Given the description of an element on the screen output the (x, y) to click on. 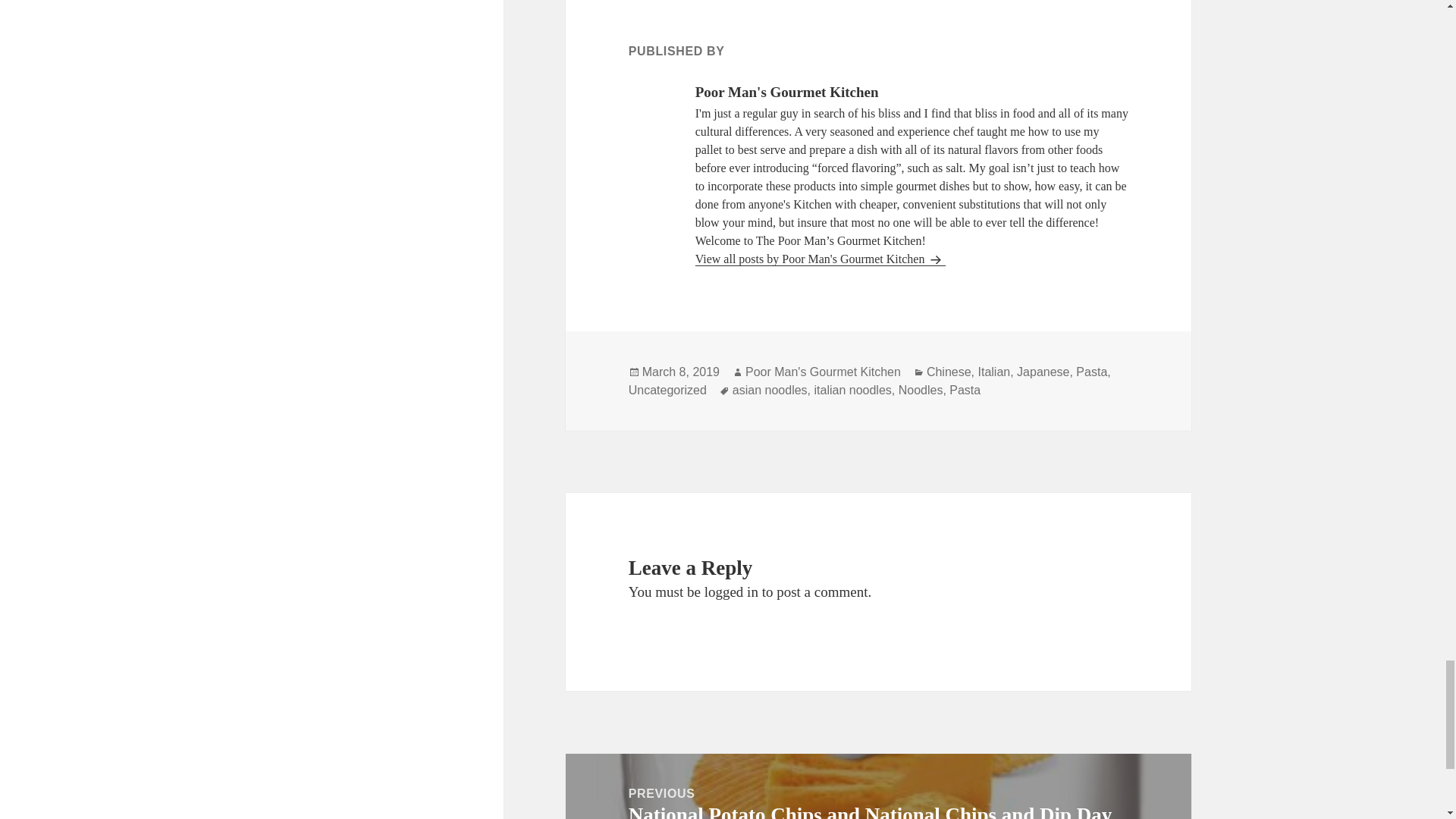
Pasta (1090, 372)
Poor Man's Gourmet Kitchen (823, 372)
Japanese (1042, 372)
March 8, 2019 (680, 372)
Chinese (948, 372)
Italian (993, 372)
asian noodles (770, 390)
Uncategorized (667, 390)
View all posts by Poor Man's Gourmet Kitchen (820, 259)
